Given the description of an element on the screen output the (x, y) to click on. 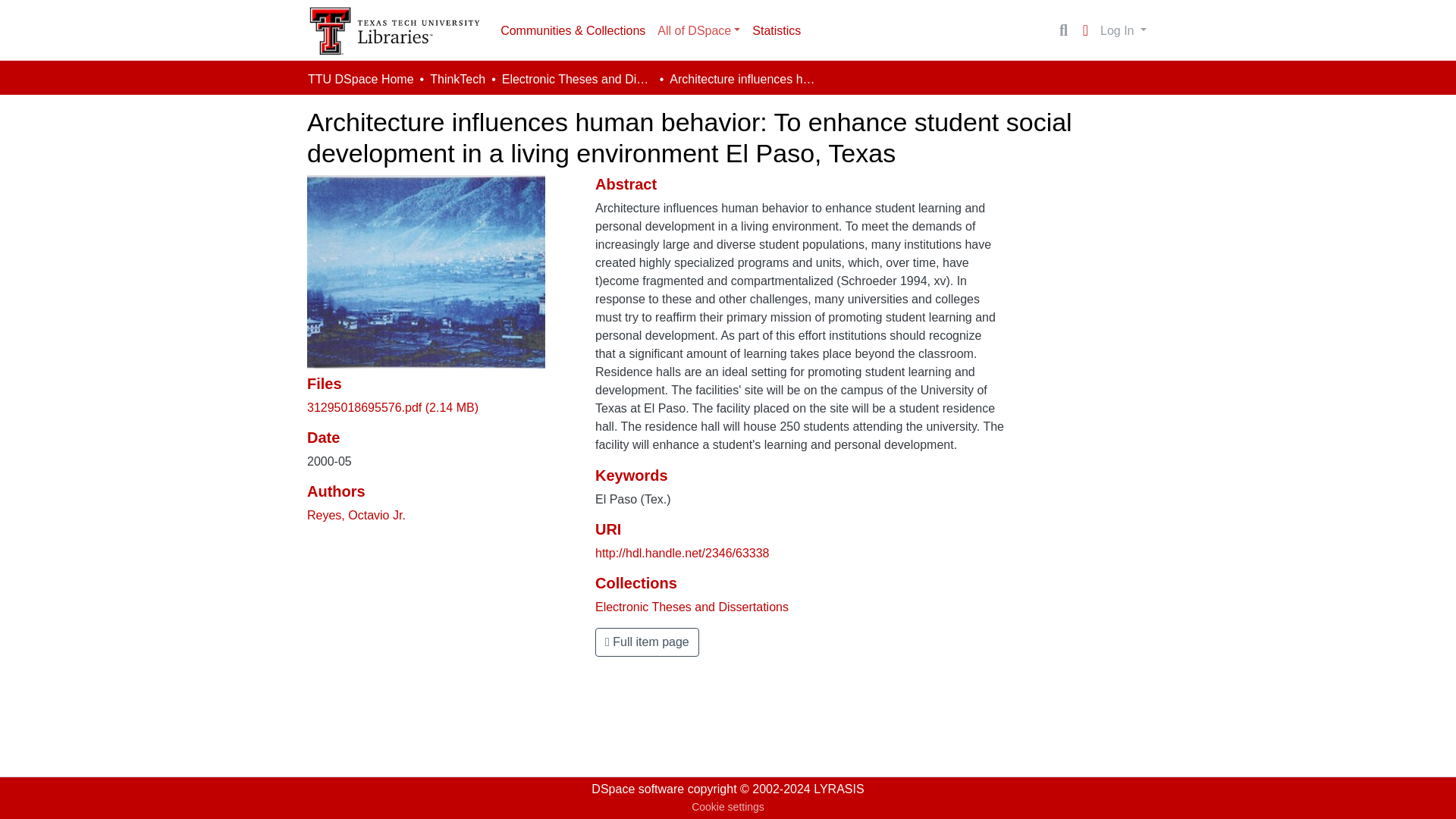
DSpace software (637, 788)
Language switch (1084, 30)
Log In (1122, 30)
Full item page (646, 642)
LYRASIS (838, 788)
Electronic Theses and Dissertations (577, 79)
Electronic Theses and Dissertations (692, 606)
All of DSpace (697, 30)
Cookie settings (727, 806)
Statistics (775, 30)
